Given the description of an element on the screen output the (x, y) to click on. 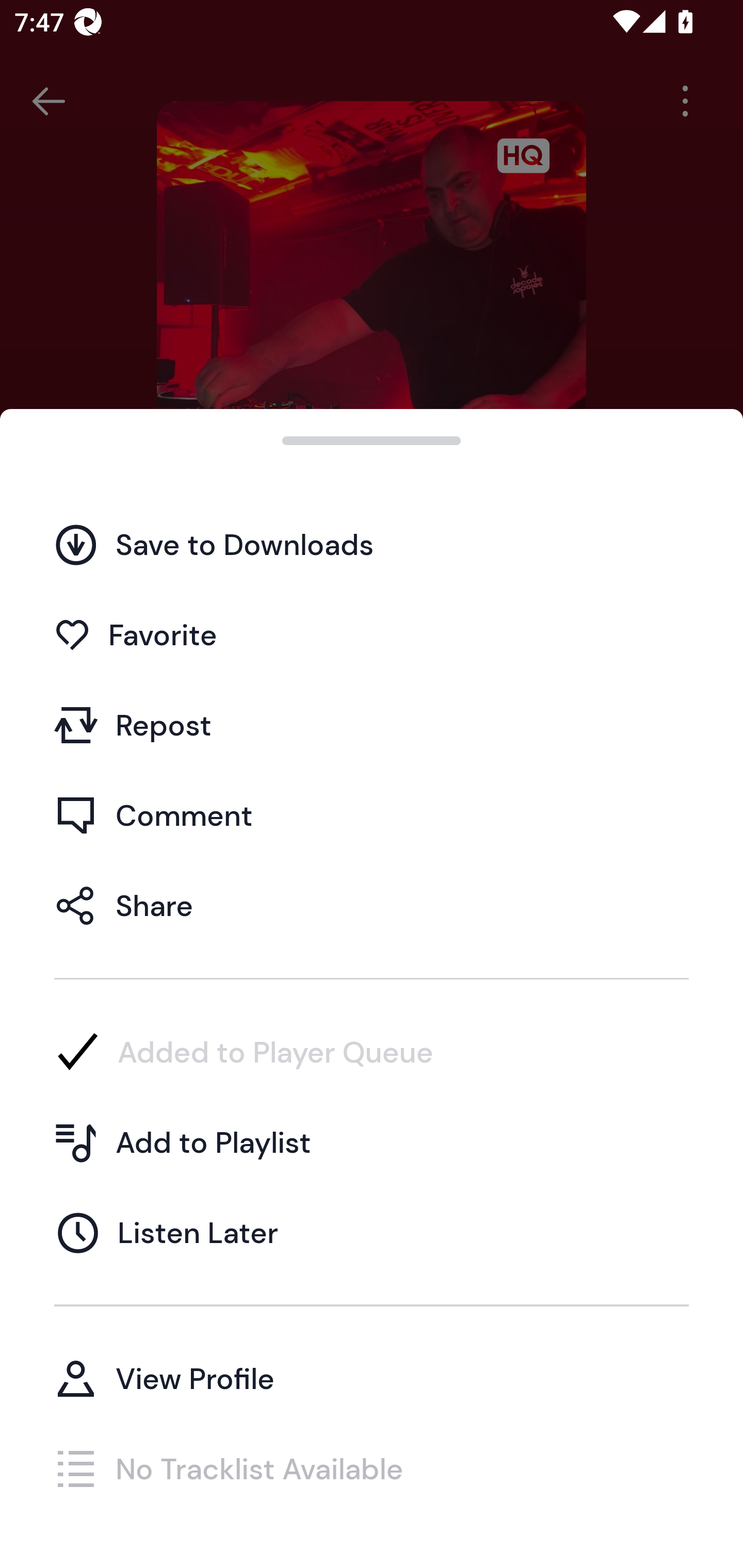
Save to Downloads (371, 543)
Favorite (371, 634)
Repost (371, 724)
Comment (371, 814)
Share (371, 905)
Add to Playlist (371, 1141)
Listen Later (371, 1231)
View Profile (371, 1377)
No Tracklist Available (371, 1468)
